Given the description of an element on the screen output the (x, y) to click on. 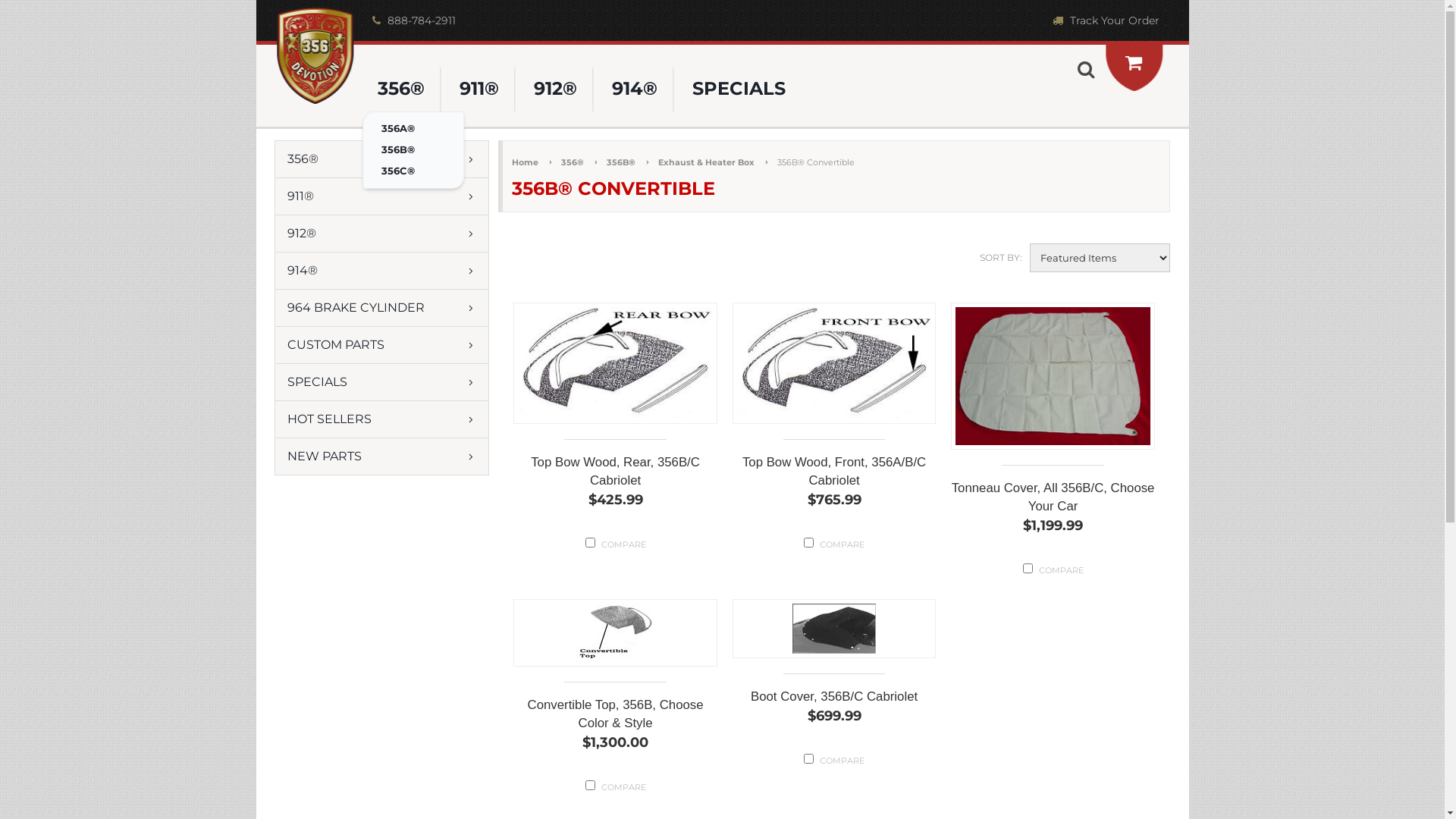
1148 Element type: text (808, 758)
Home Element type: text (531, 162)
1199 Element type: text (590, 785)
Top Bow Wood, Front, 356A/B/C Cabriolet Element type: text (834, 464)
Track Your Order Element type: text (1103, 20)
NEW PARTS Element type: text (381, 456)
View Cart Element type: hover (1133, 62)
2016 Element type: text (1027, 568)
Convertible Top, 356B, Choose Color & Style Element type: text (615, 706)
SPECIALS Element type: text (738, 89)
Exhaust & Heater Box Element type: text (713, 162)
Top Bow Wood, Rear, 356B/C Cabriolet Element type: text (615, 464)
888-784-2911 Element type: text (411, 20)
964 BRAKE CYLINDER Element type: text (381, 307)
SPECIALS Element type: text (381, 382)
Tonneau Cover, All 356B/C, Choose Your Car Element type: text (1052, 489)
2017 Element type: text (808, 542)
HOT SELLERS Element type: text (381, 419)
Boot Cover, 356B/C Cabriolet Element type: text (834, 689)
CUSTOM PARTS Element type: text (381, 344)
2018 Element type: text (590, 542)
